Given the description of an element on the screen output the (x, y) to click on. 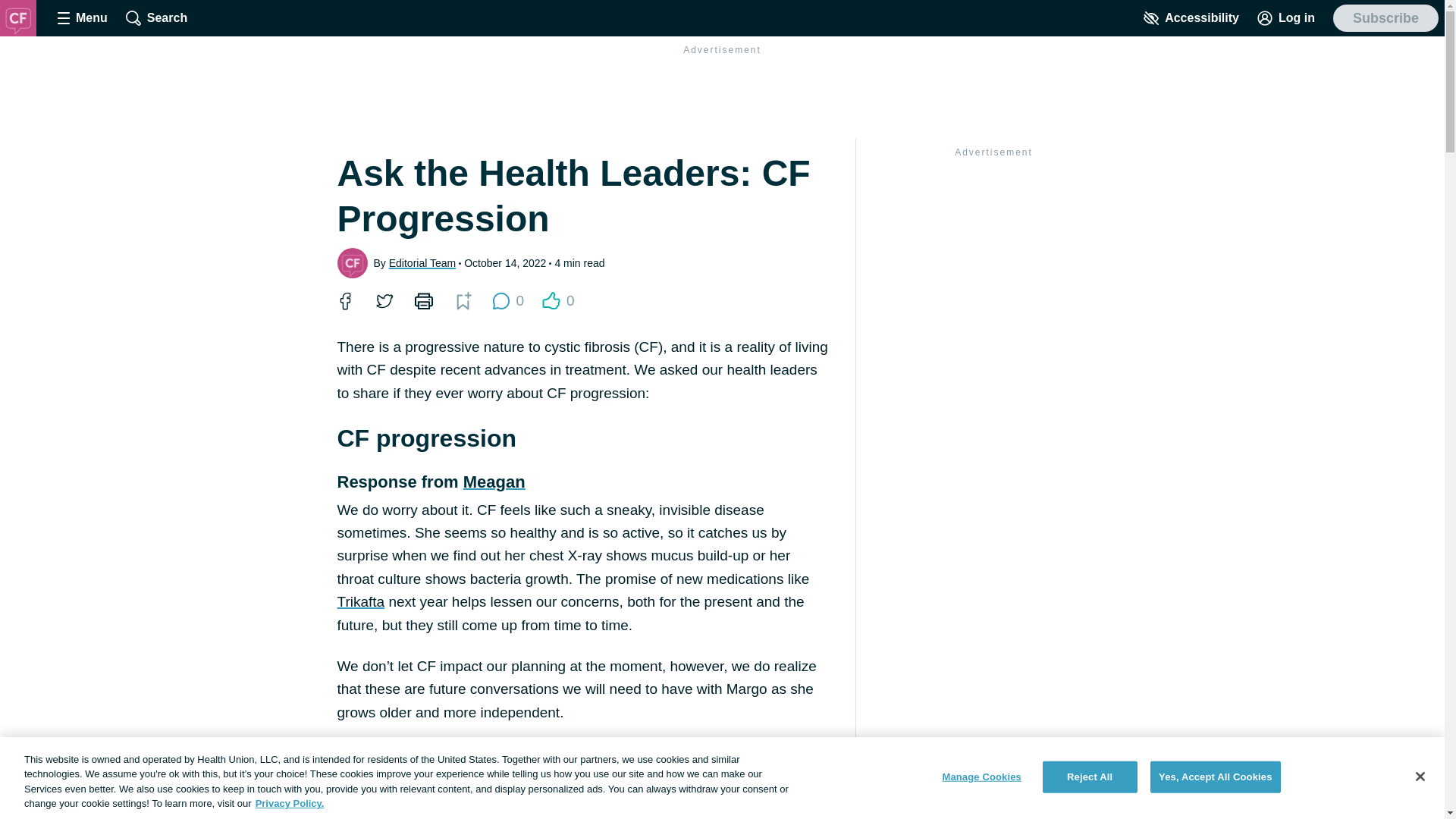
print page (422, 300)
Search (156, 18)
Share to Twitter (383, 300)
Editorial Team (421, 262)
Accessibility (1190, 18)
Share to Twitter (383, 300)
Menu (82, 18)
Reactions (550, 300)
Share to Facebook (343, 300)
print page (506, 300)
Bookmark for later (422, 300)
Log in (461, 300)
comment (1285, 18)
Subscribe (500, 300)
